Given the description of an element on the screen output the (x, y) to click on. 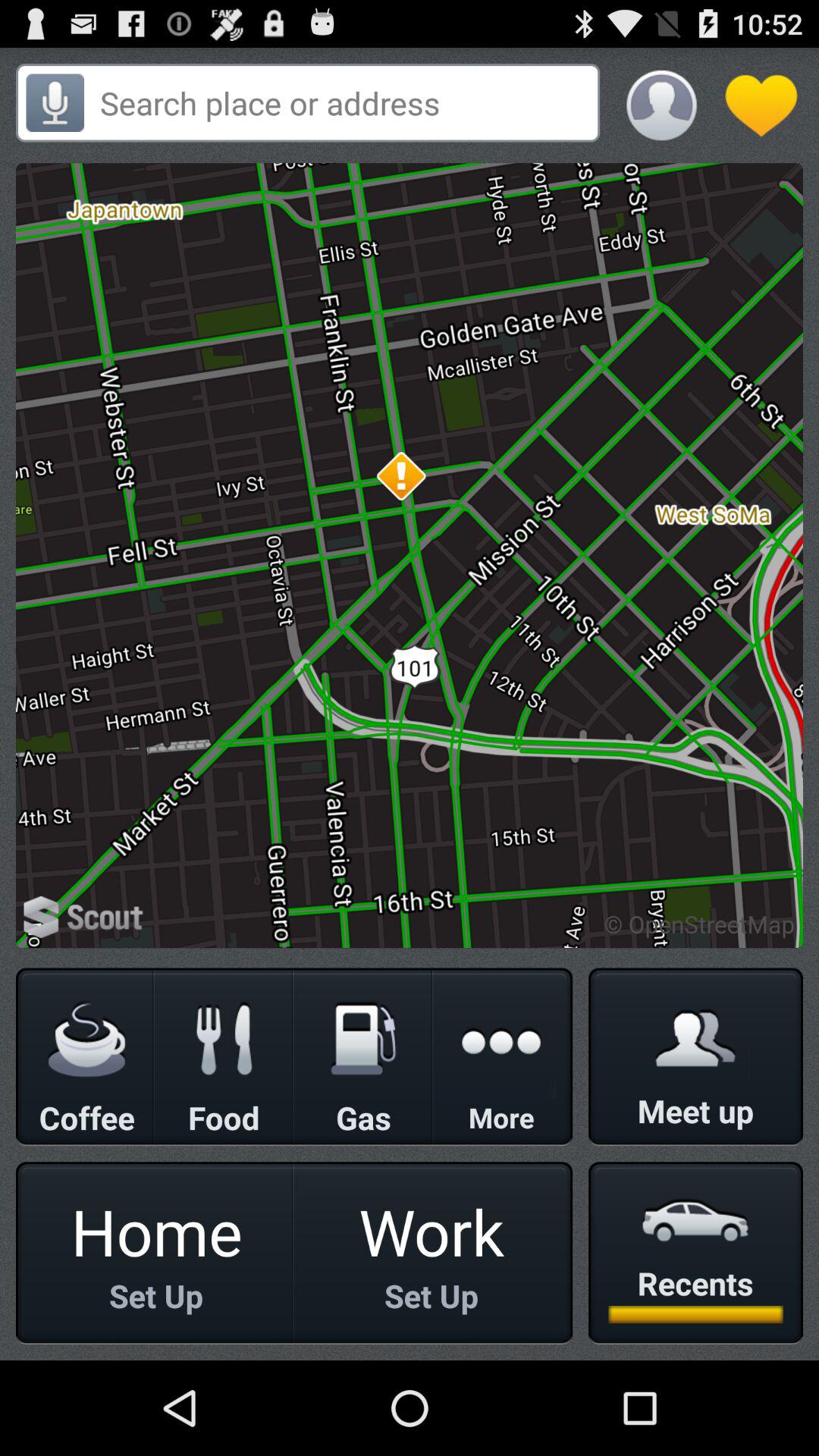
search page (344, 102)
